Given the description of an element on the screen output the (x, y) to click on. 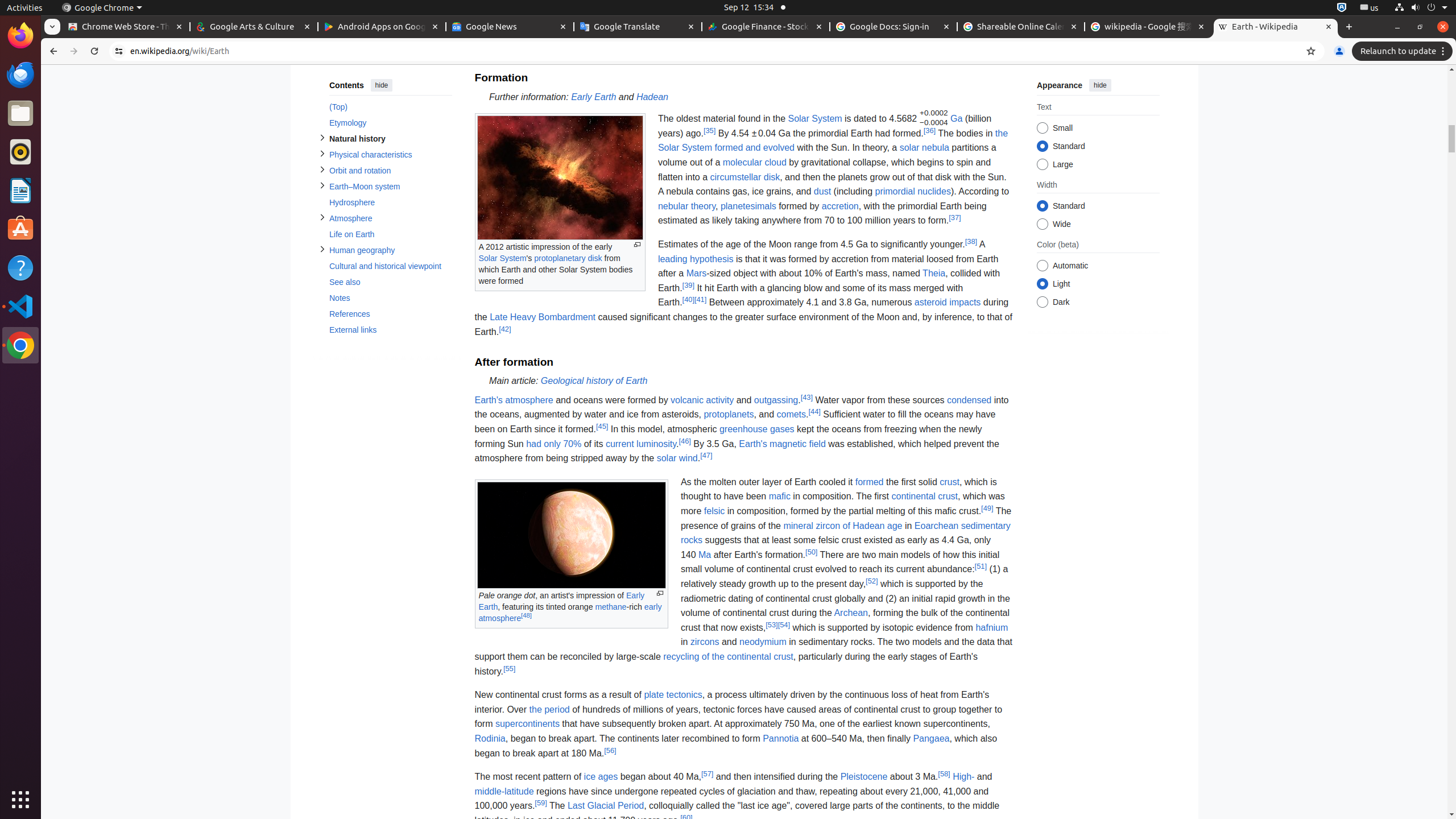
[57] Element type: link (706, 773)
leading hypothesis Element type: link (695, 258)
formed Element type: link (868, 481)
Toggle Earth–Moon system subsection Element type: push-button (321, 185)
Standard Element type: radio-button (1042, 206)
